Given the description of an element on the screen output the (x, y) to click on. 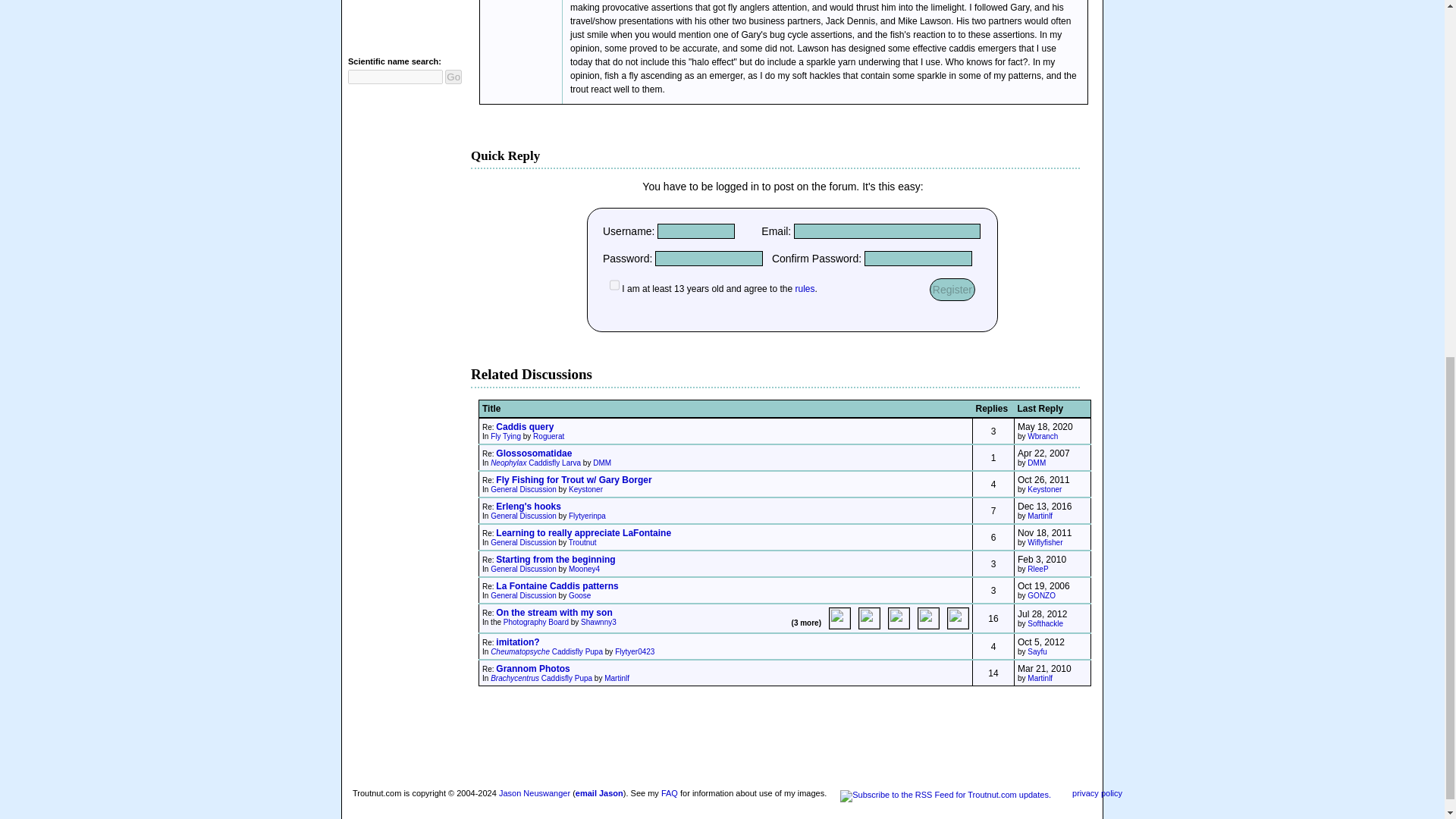
Go (453, 76)
Roguerat (548, 436)
rules (803, 288)
DMM (1036, 462)
Wbranch (1042, 436)
Go (453, 76)
Glossosomatidae (534, 452)
Register (952, 289)
Register (952, 289)
Neophylax Caddisfly Larva (535, 462)
Erleng's hooks (528, 506)
on (615, 284)
DMM (601, 462)
Keystoner (1044, 489)
Caddis query (524, 426)
